Given the description of an element on the screen output the (x, y) to click on. 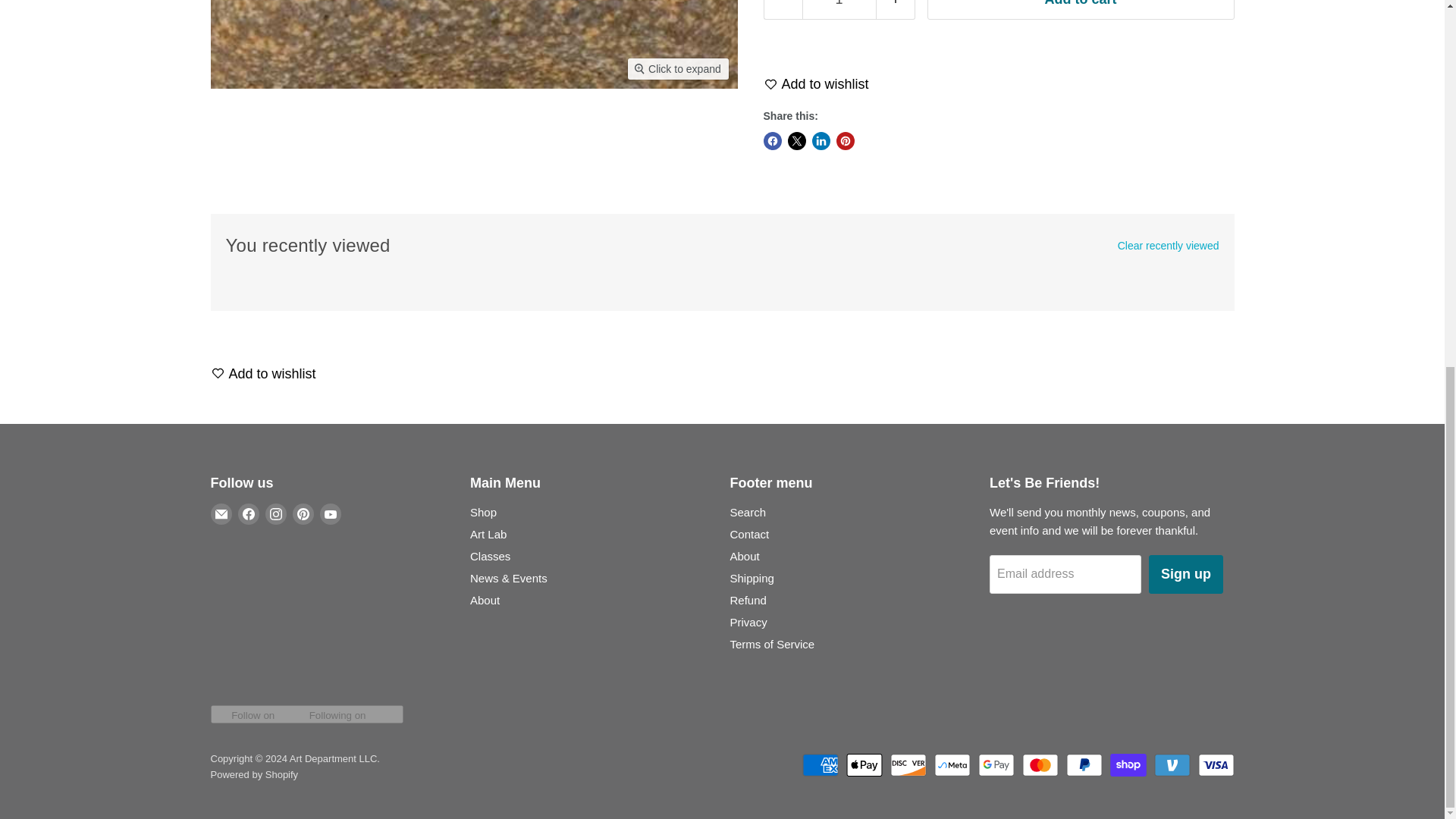
1 (839, 10)
Pinterest (303, 513)
Email (221, 513)
Facebook (248, 513)
YouTube (330, 513)
Instagram (275, 513)
